Given the description of an element on the screen output the (x, y) to click on. 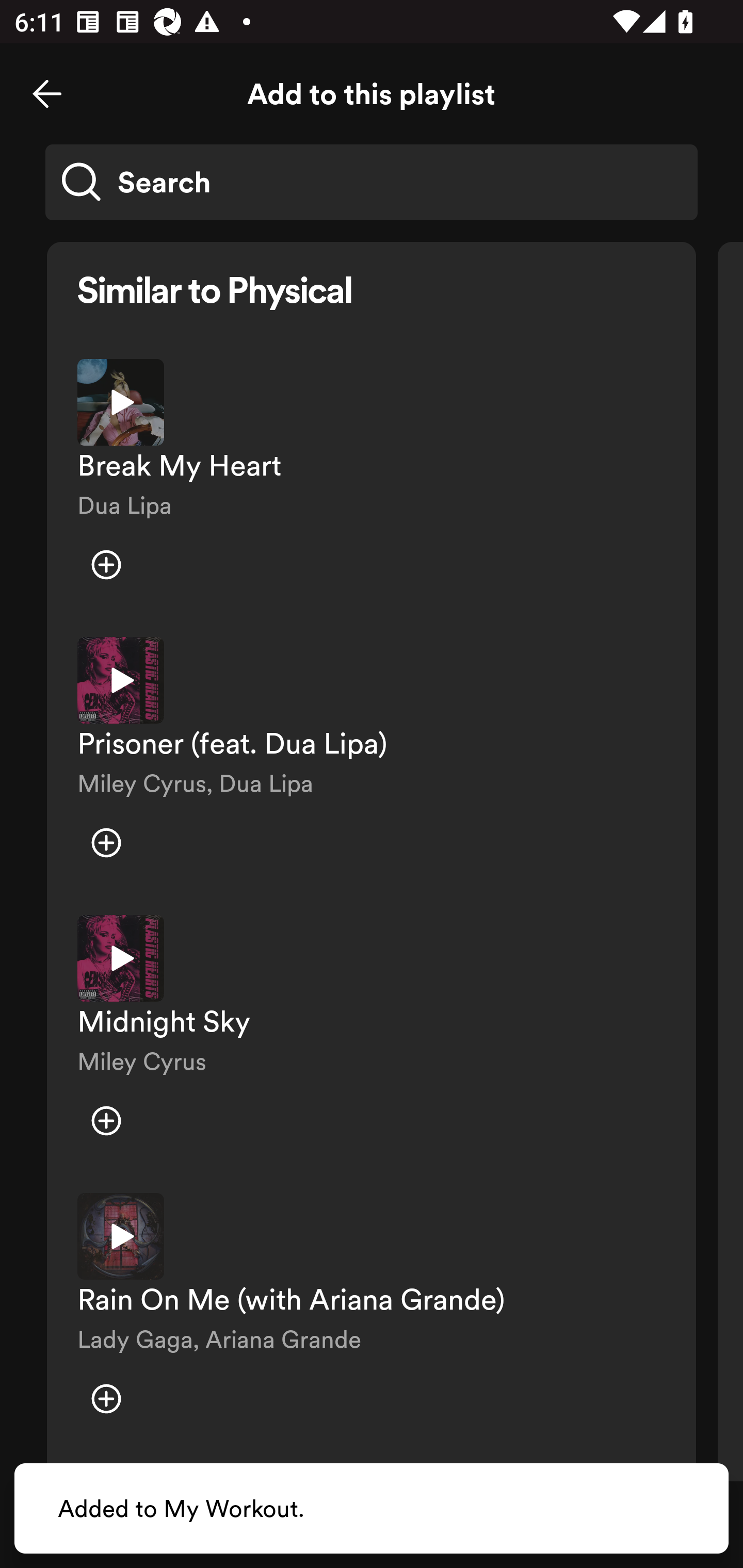
Close (46, 93)
Search (371, 181)
Play preview Break My Heart Dua Lipa Add item (371, 483)
Play preview (120, 402)
Add item (106, 565)
Play preview (120, 680)
Add item (106, 842)
Play preview Midnight Sky Miley Cyrus Add item (371, 1039)
Play preview (120, 958)
Add item (106, 1120)
Play preview (120, 1236)
Add item (106, 1398)
